Given the description of an element on the screen output the (x, y) to click on. 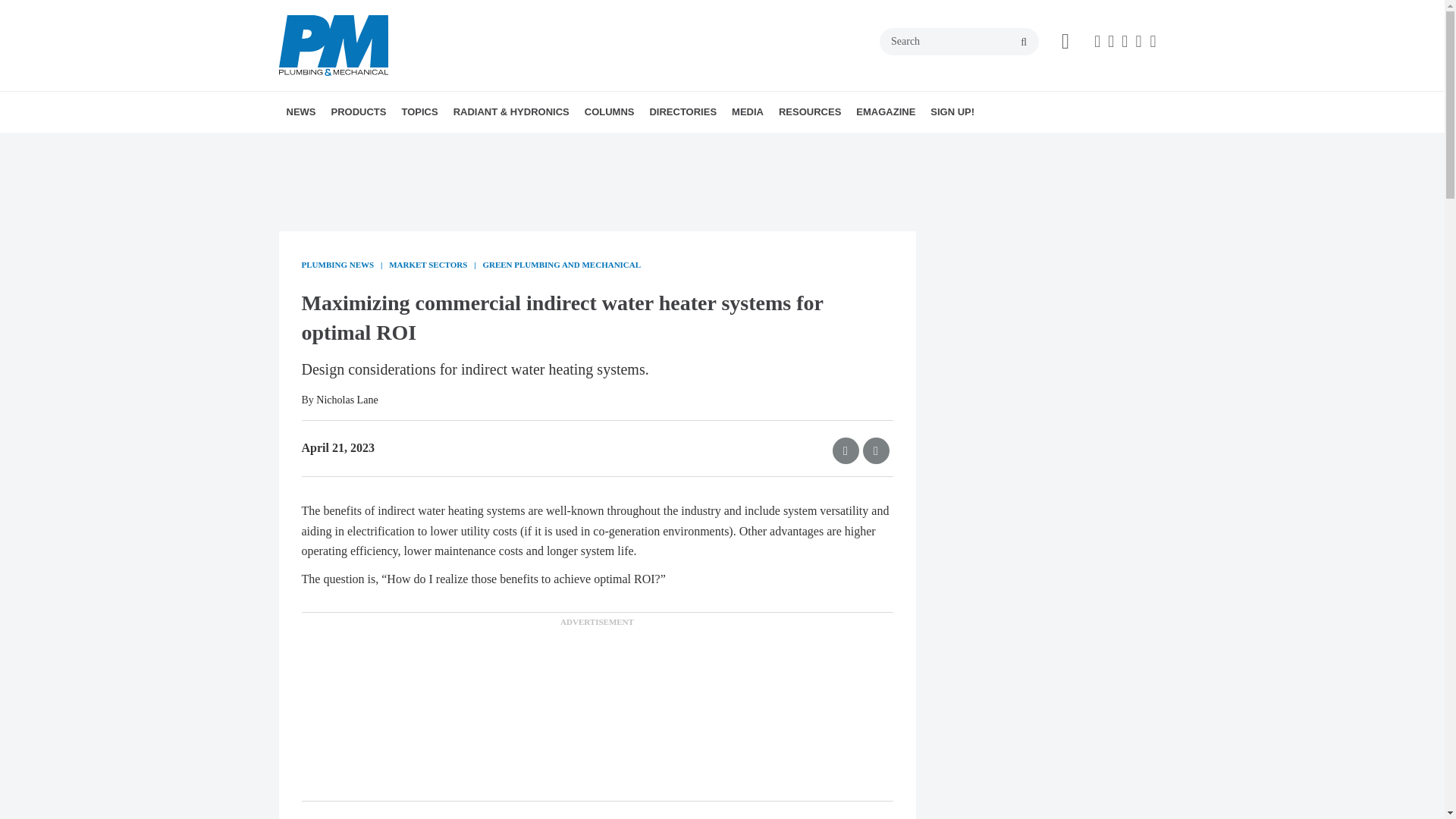
GREEN PLUMBING (507, 145)
WATER TREATMENT (522, 145)
JOHN SIEGENTHALER (683, 145)
NEWS (301, 111)
TECHNOLOGY (519, 145)
TOPICS (419, 111)
RADIANT COMFORT REPORT (539, 145)
COLUMNS (609, 111)
PRODUCTS (358, 111)
CODES CORNER (671, 145)
